Given the description of an element on the screen output the (x, y) to click on. 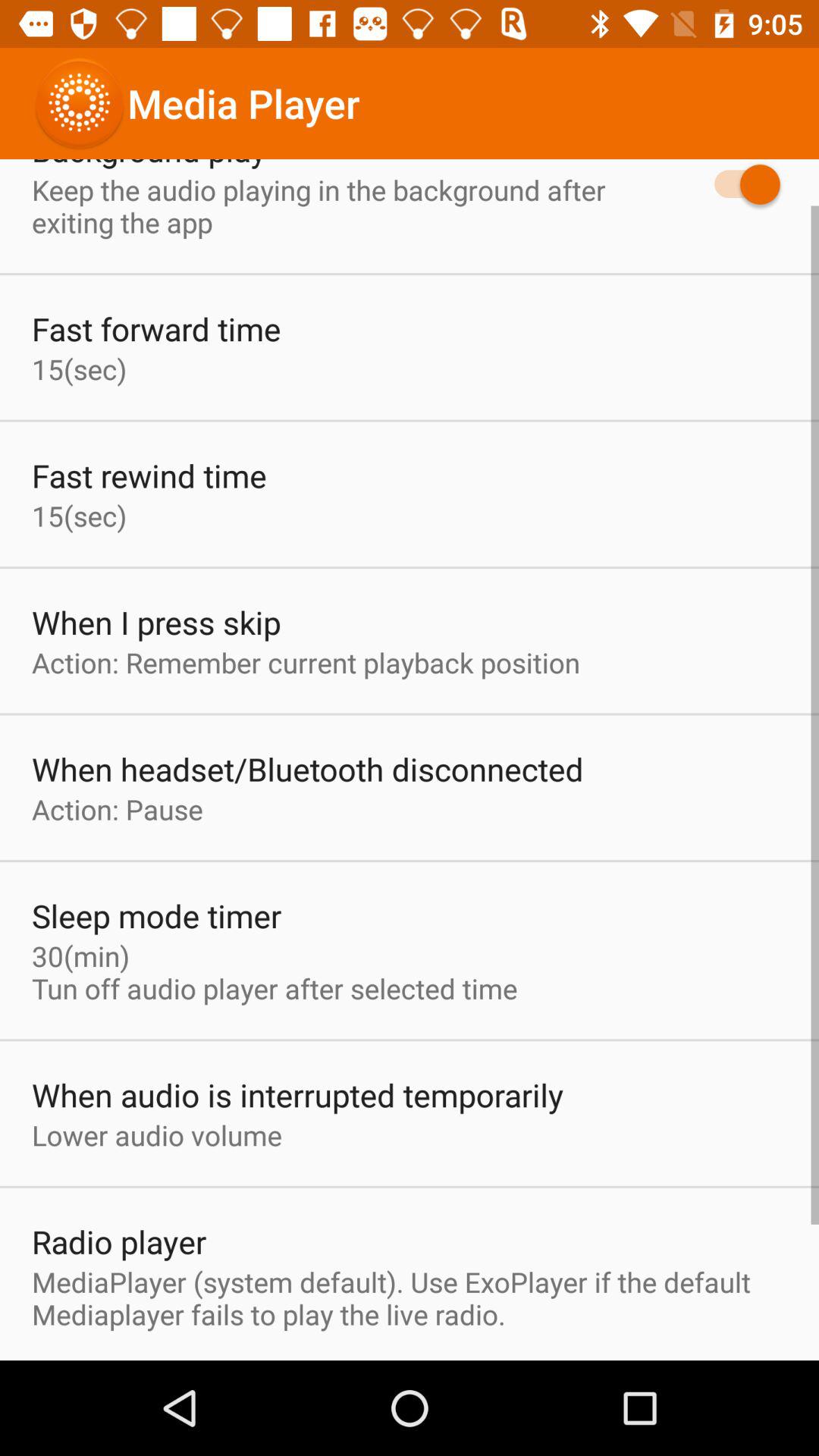
select the icon before the text media player (79, 103)
